Given the description of an element on the screen output the (x, y) to click on. 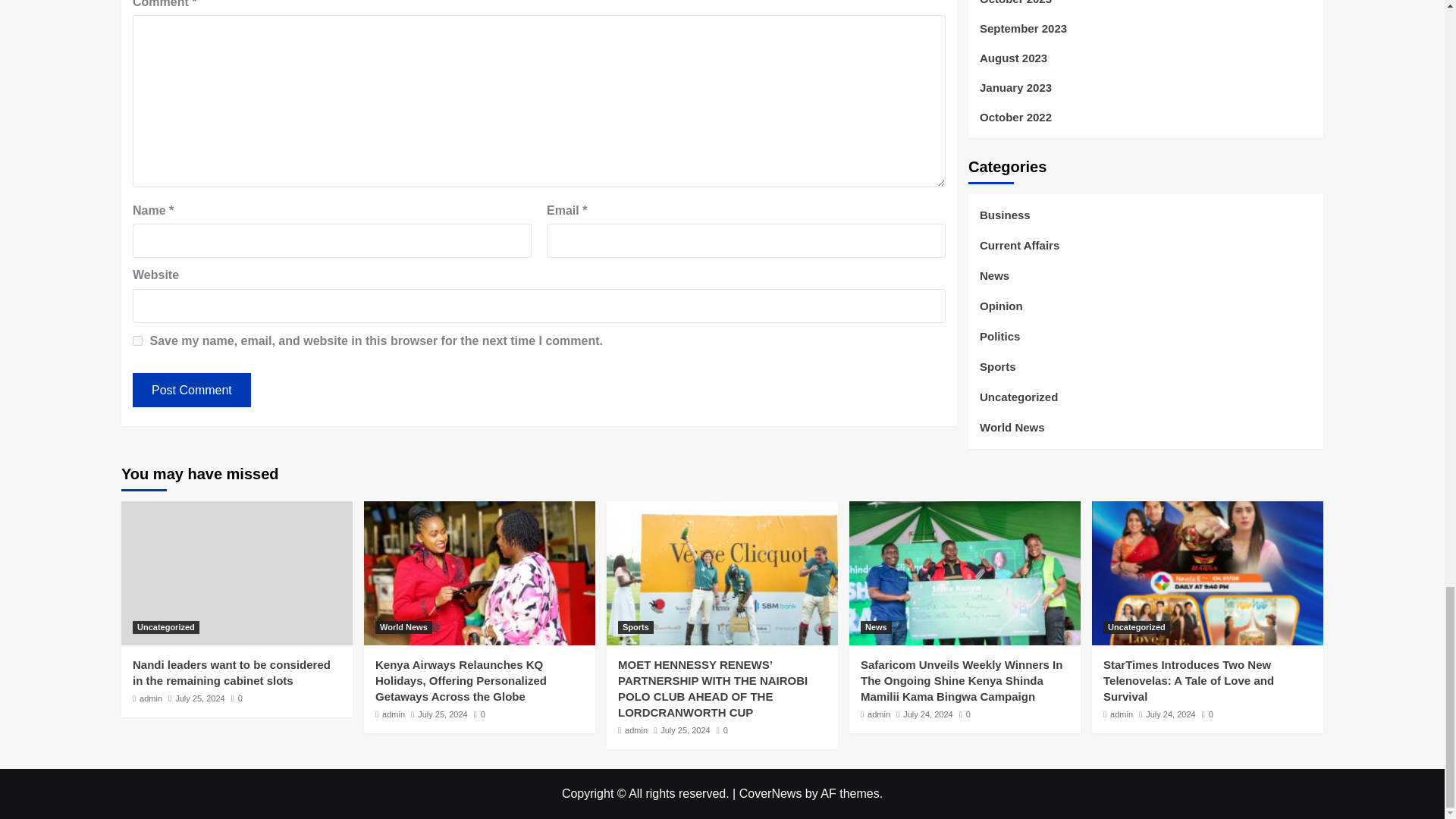
Post Comment (191, 390)
Post Comment (191, 390)
yes (137, 340)
